Given the description of an element on the screen output the (x, y) to click on. 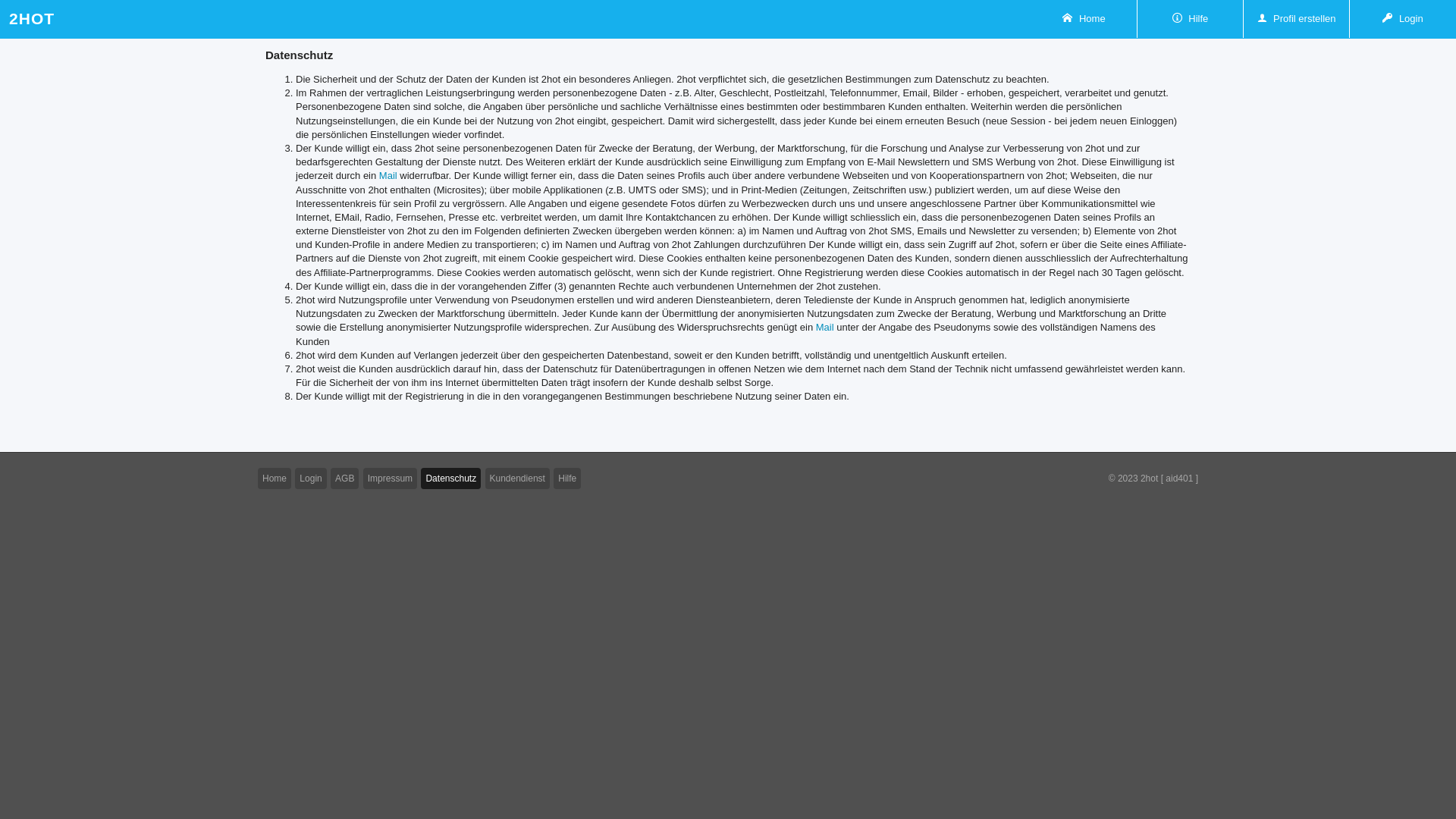
2HOT Element type: text (31, 18)
AGB Element type: text (344, 478)
Profil erstellen Element type: text (1296, 18)
Impressum Element type: text (390, 478)
Home Element type: text (274, 478)
Hilfe Element type: text (1190, 18)
Login Element type: text (310, 478)
Home Element type: text (1084, 18)
Mail Element type: text (388, 175)
Datenschutz Element type: text (450, 478)
Mail Element type: text (824, 326)
Hilfe Element type: text (566, 478)
Kundendienst Element type: text (517, 478)
